Given the description of an element on the screen output the (x, y) to click on. 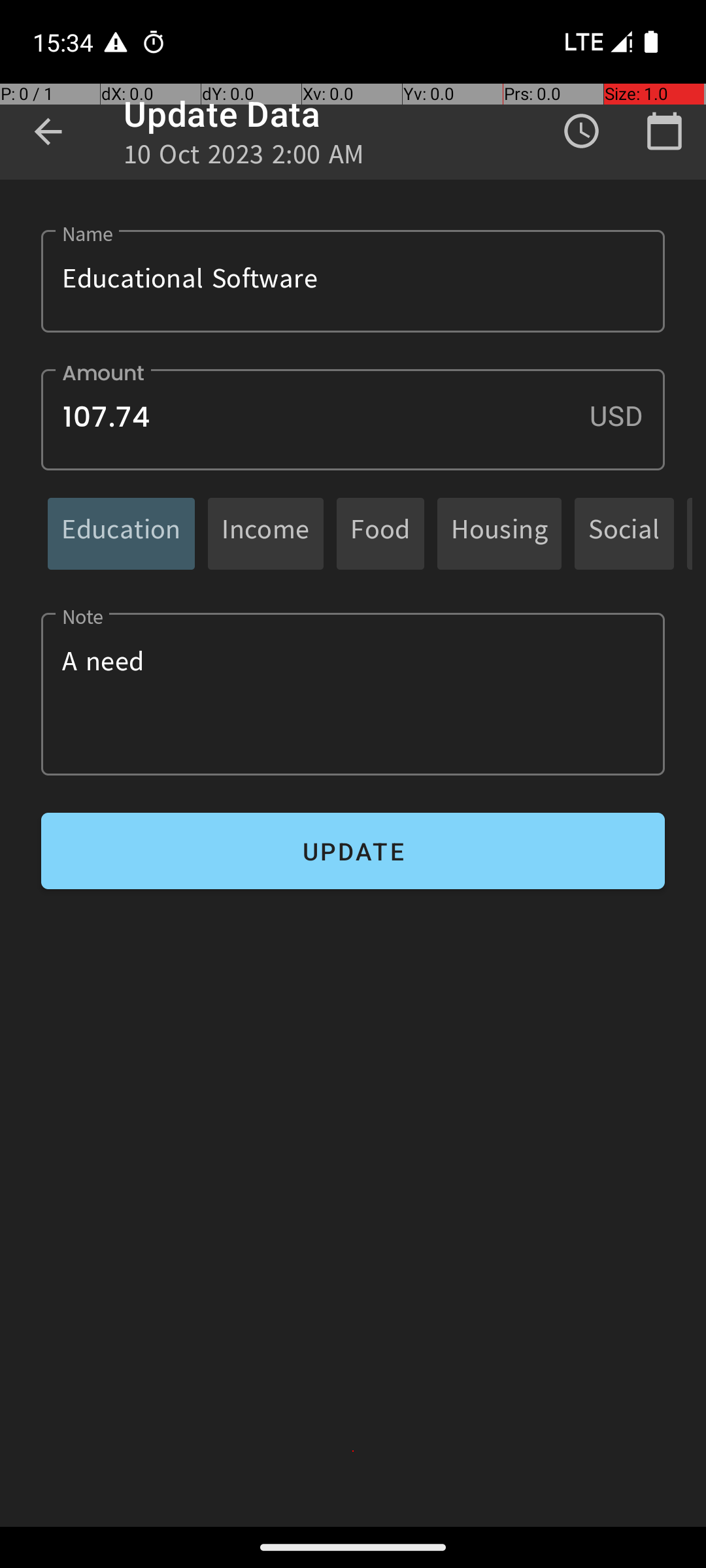
10 Oct 2023 2:00 AM Element type: android.widget.TextView (243, 157)
Educational Software Element type: android.widget.EditText (352, 280)
107.74 Element type: android.widget.EditText (352, 419)
Education Element type: android.widget.TextView (121, 533)
